Given the description of an element on the screen output the (x, y) to click on. 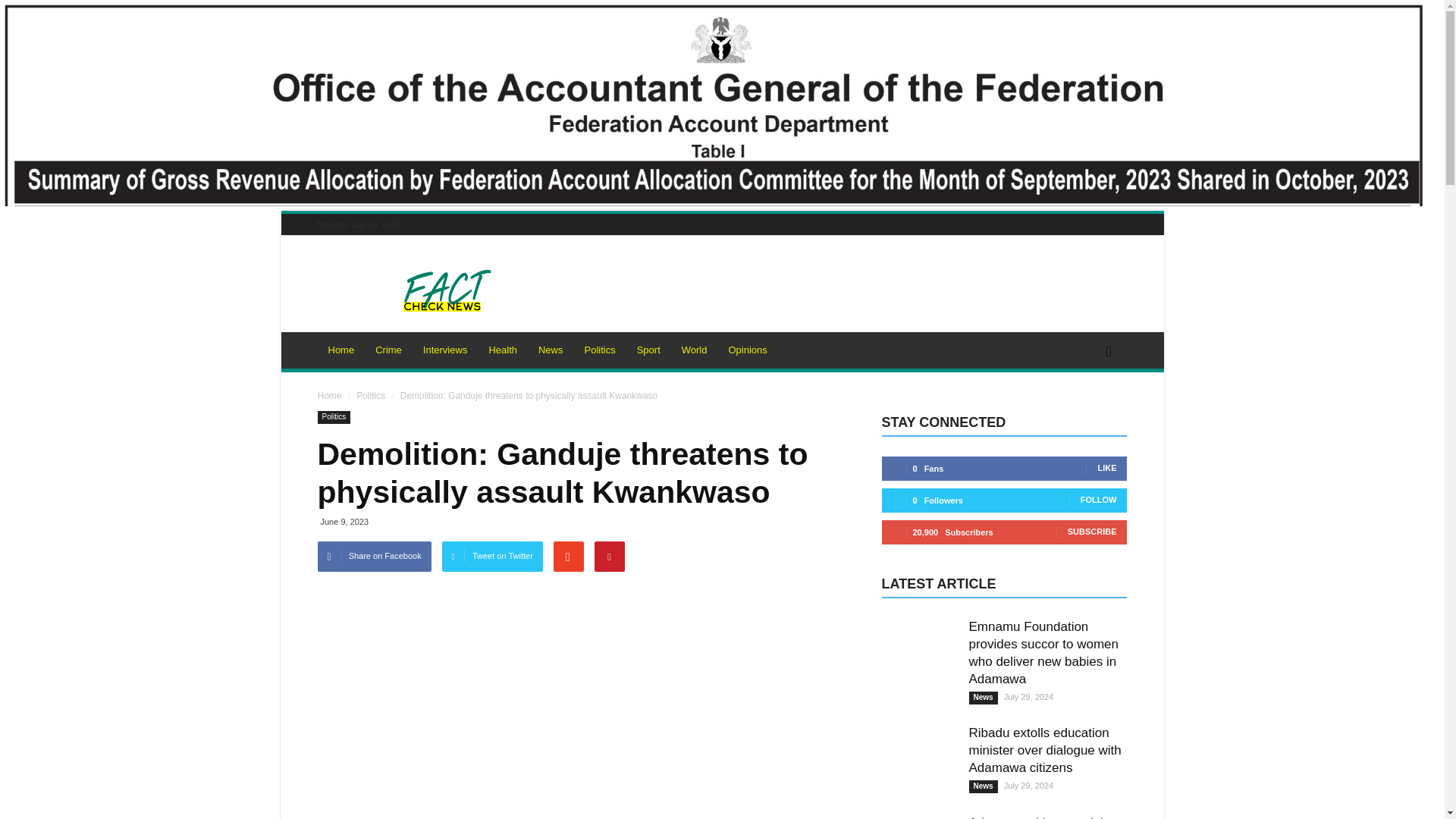
Interviews (445, 350)
Tweet on Twitter (492, 556)
Home (328, 395)
Politics (371, 395)
Crime (388, 350)
Politics (333, 417)
Sport (648, 350)
Home (341, 350)
World (694, 350)
News (550, 350)
Share on Facebook (373, 556)
Opinions (747, 350)
Health (502, 350)
View all posts in Politics (371, 395)
Politics (599, 350)
